Given the description of an element on the screen output the (x, y) to click on. 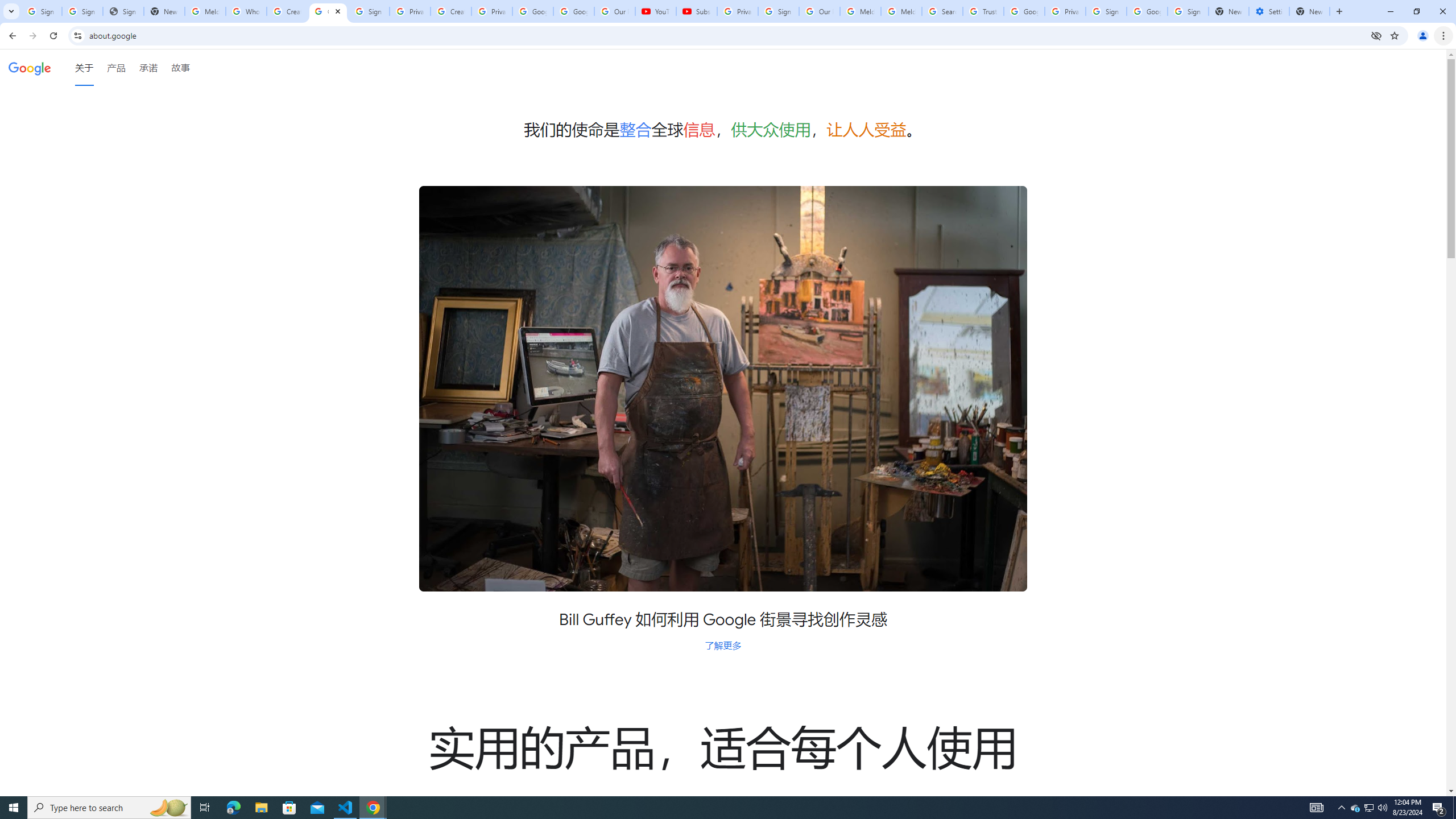
Search our Doodle Library Collection - Google Doodles (942, 11)
Sign in - Google Accounts (1187, 11)
Who is my administrator? - Google Account Help (246, 11)
